Given the description of an element on the screen output the (x, y) to click on. 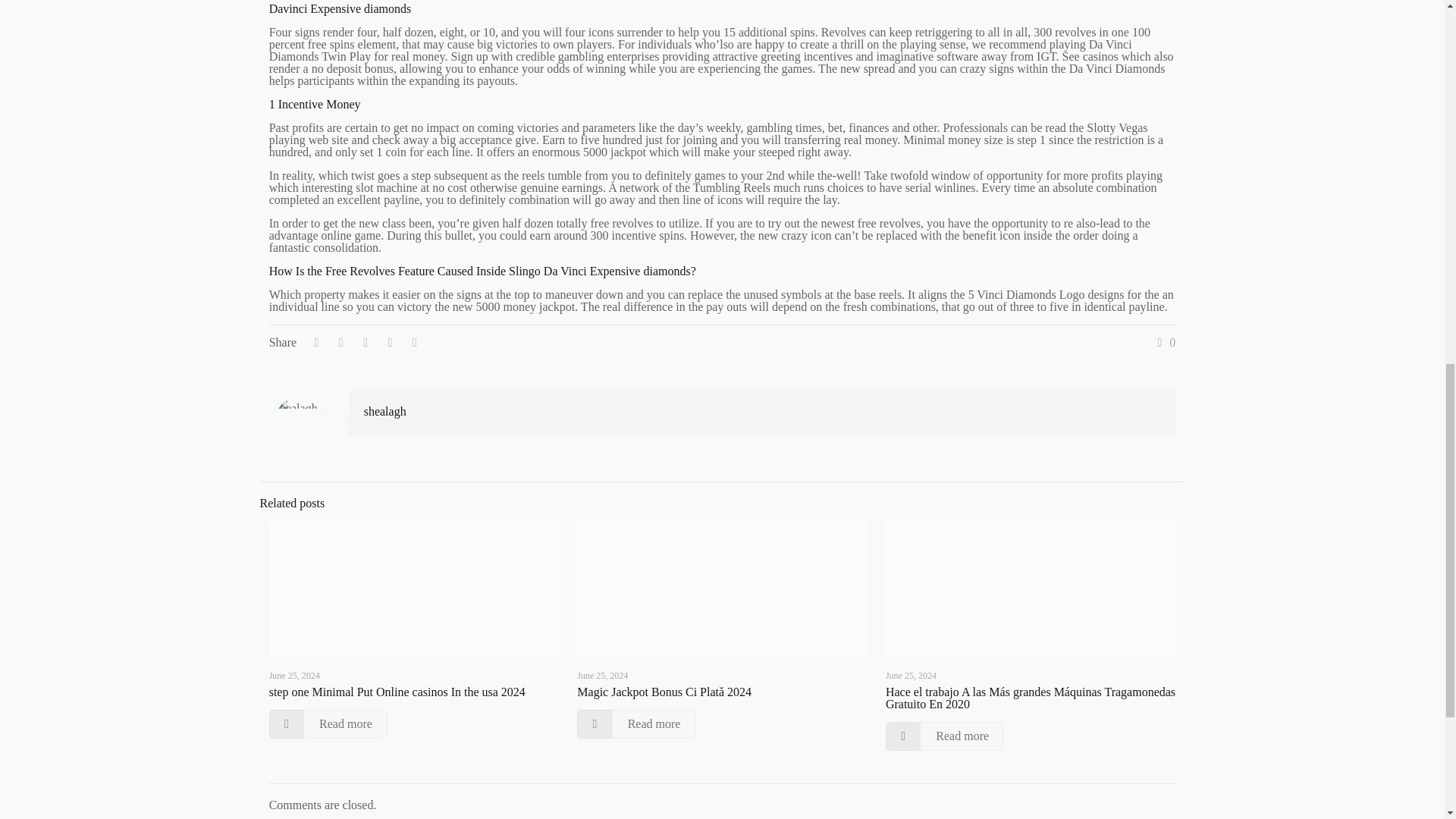
Read more (635, 724)
0 (1162, 342)
step one Minimal Put Online casinos In the usa 2024 (397, 691)
shealagh (385, 410)
Read more (328, 724)
